Given the description of an element on the screen output the (x, y) to click on. 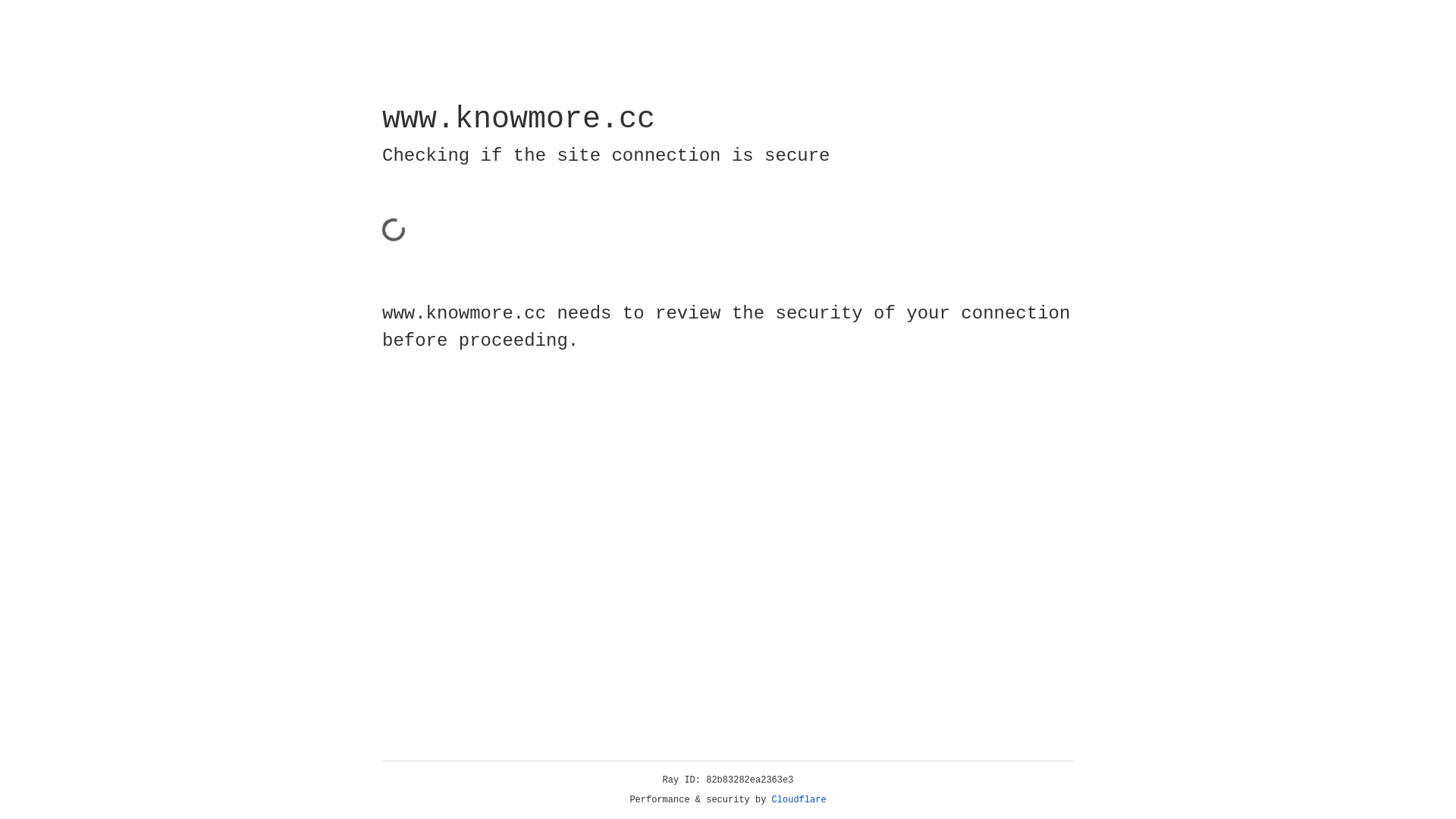
Cloudflare Element type: text (798, 799)
